Given the description of an element on the screen output the (x, y) to click on. 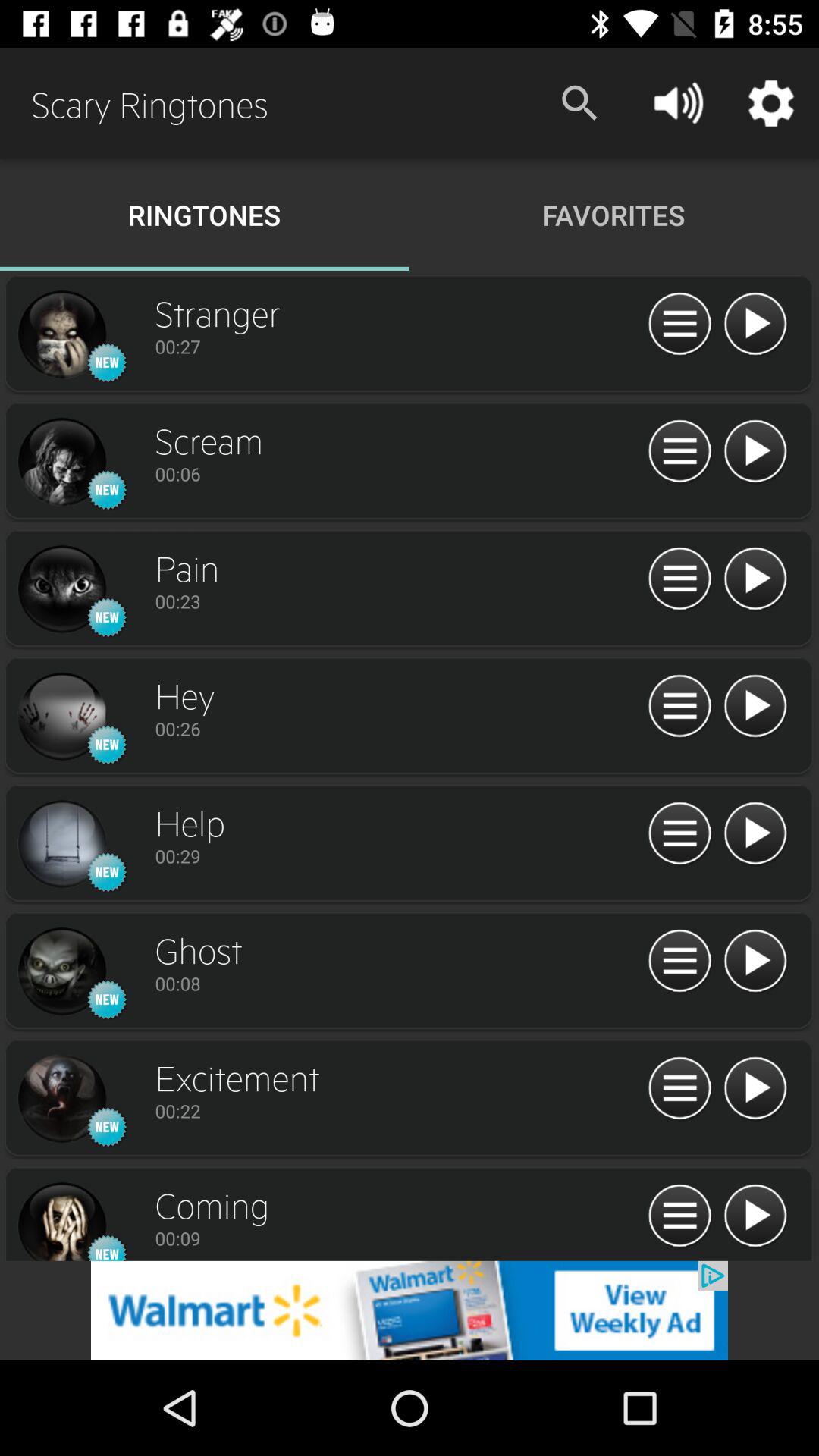
select add (409, 1310)
